Given the description of an element on the screen output the (x, y) to click on. 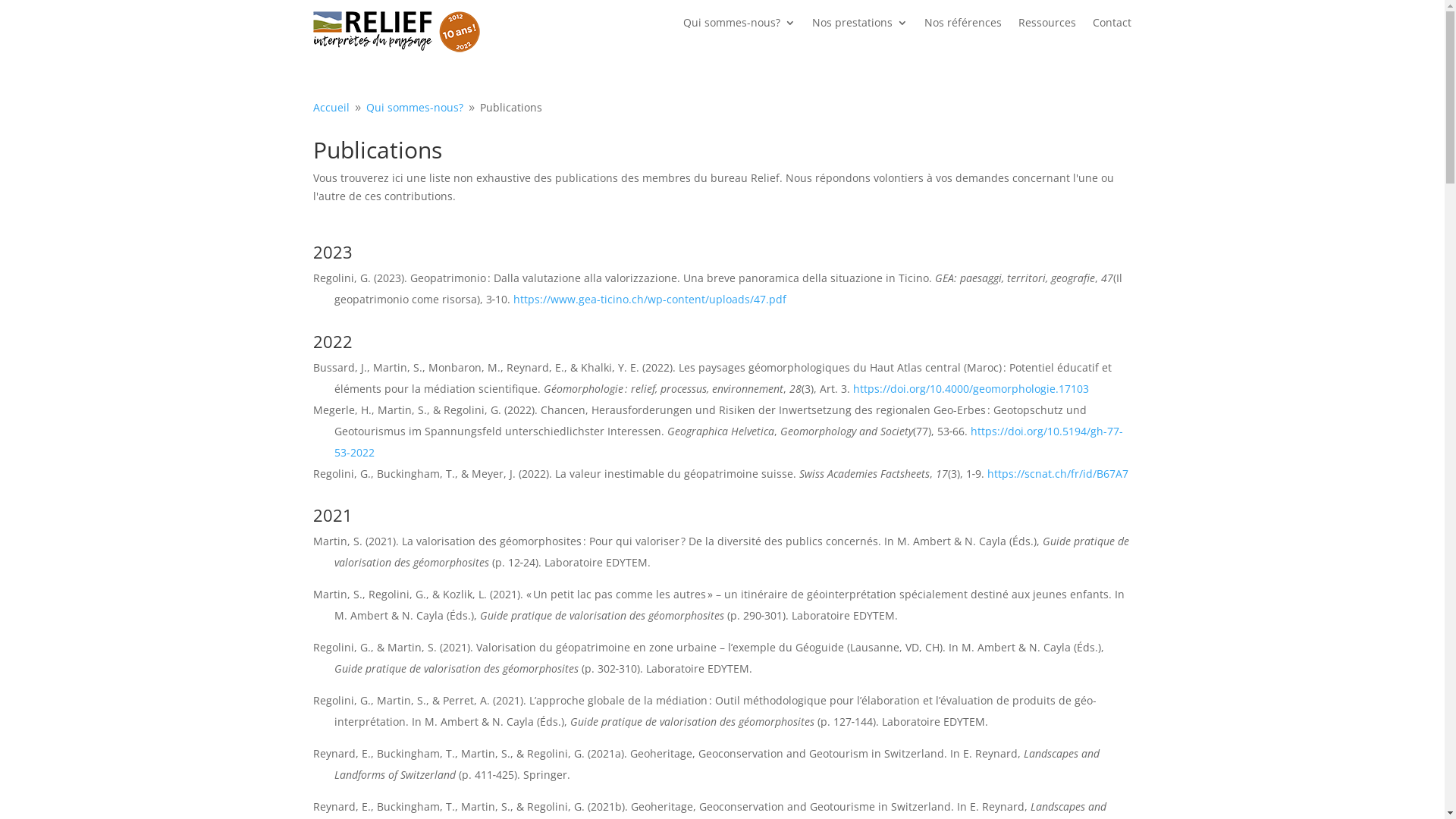
https://www.gea-ticino.ch/wp-content/uploads/47.pdf Element type: text (649, 298)
Qui sommes-nous? Element type: text (739, 25)
Ressources Element type: text (1047, 25)
Contact Element type: text (1111, 25)
https://doi.org/10.5194/gh-77-53-2022 Element type: text (728, 441)
Accueil Element type: text (330, 107)
https://doi.org/10.4000/geomorphologie.17103 Element type: text (970, 388)
Nos prestations Element type: text (859, 25)
https://scnat.ch/fr/id/B67A7 Element type: text (1057, 473)
Qui sommes-nous? Element type: text (413, 107)
